Given the description of an element on the screen output the (x, y) to click on. 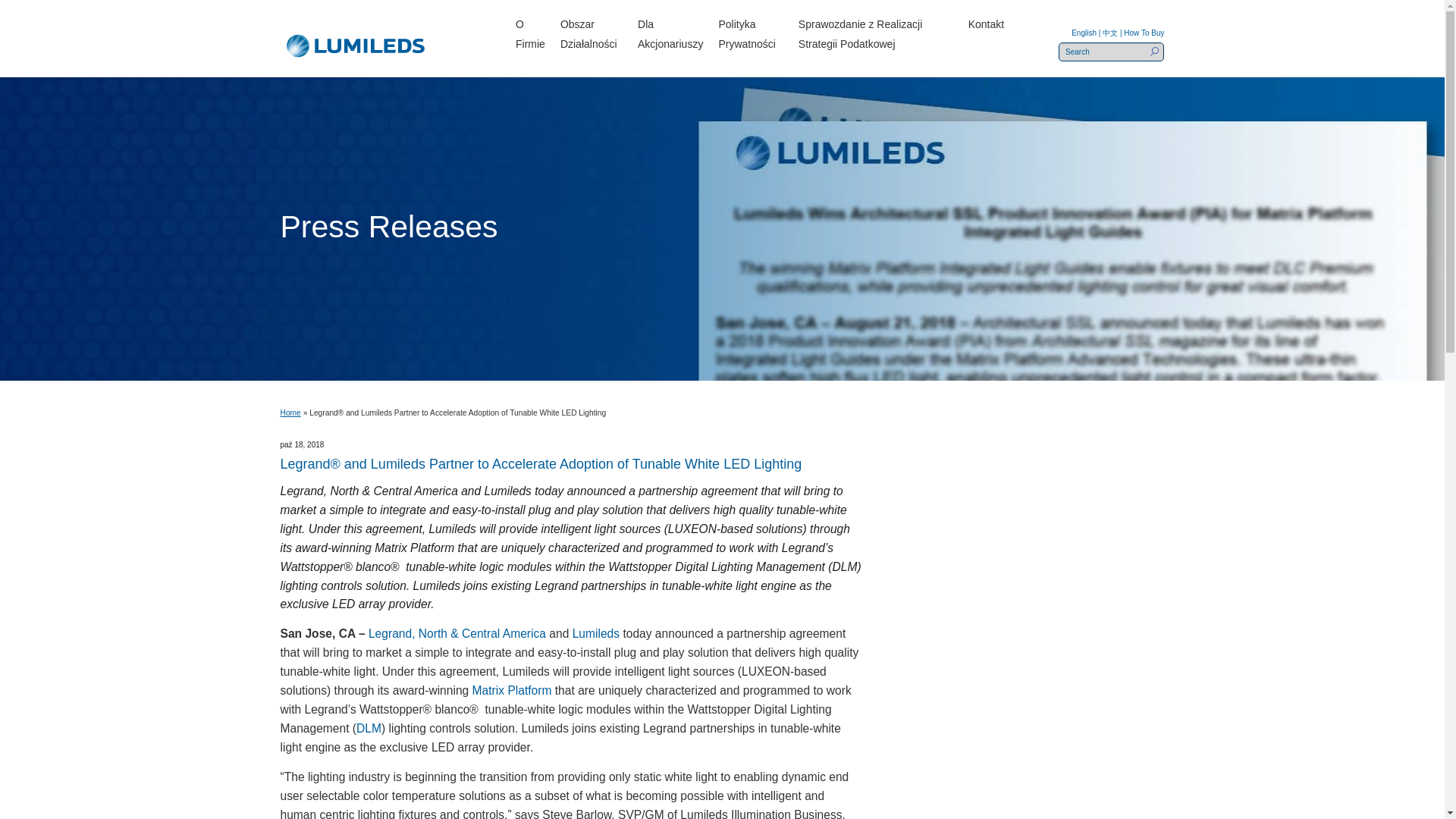
How To Buy (1143, 32)
English (1086, 32)
DLM (368, 727)
Lumileds (596, 633)
Dla Akcjonariuszy (670, 34)
Kontakt (985, 24)
Sprawozdanie z Realizacji Strategii Podatkowej (875, 34)
Matrix Platform (511, 689)
Home (291, 412)
